Given the description of an element on the screen output the (x, y) to click on. 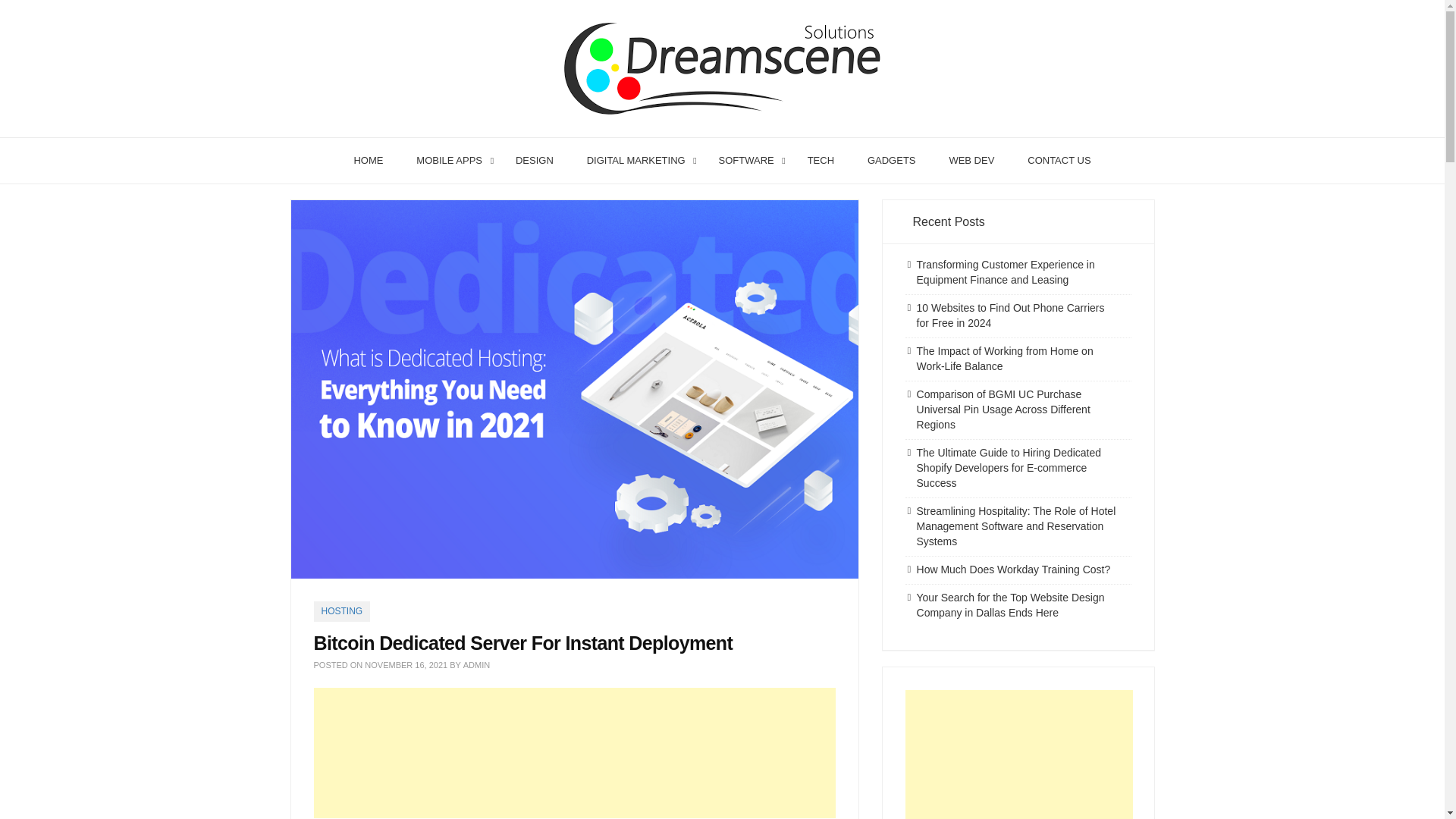
SOFTWARE (746, 160)
GADGETS (891, 160)
How Much Does Workday Training Cost? (1013, 569)
ADMIN (476, 664)
HOSTING (342, 611)
HOME (367, 160)
10 Websites to Find Out Phone Carriers for Free in 2024 (1011, 315)
DESIGN (534, 160)
MOBILE APPS (449, 160)
WEB DEV (971, 160)
The Impact of Working from Home on Work-Life Balance (1005, 358)
